Given the description of an element on the screen output the (x, y) to click on. 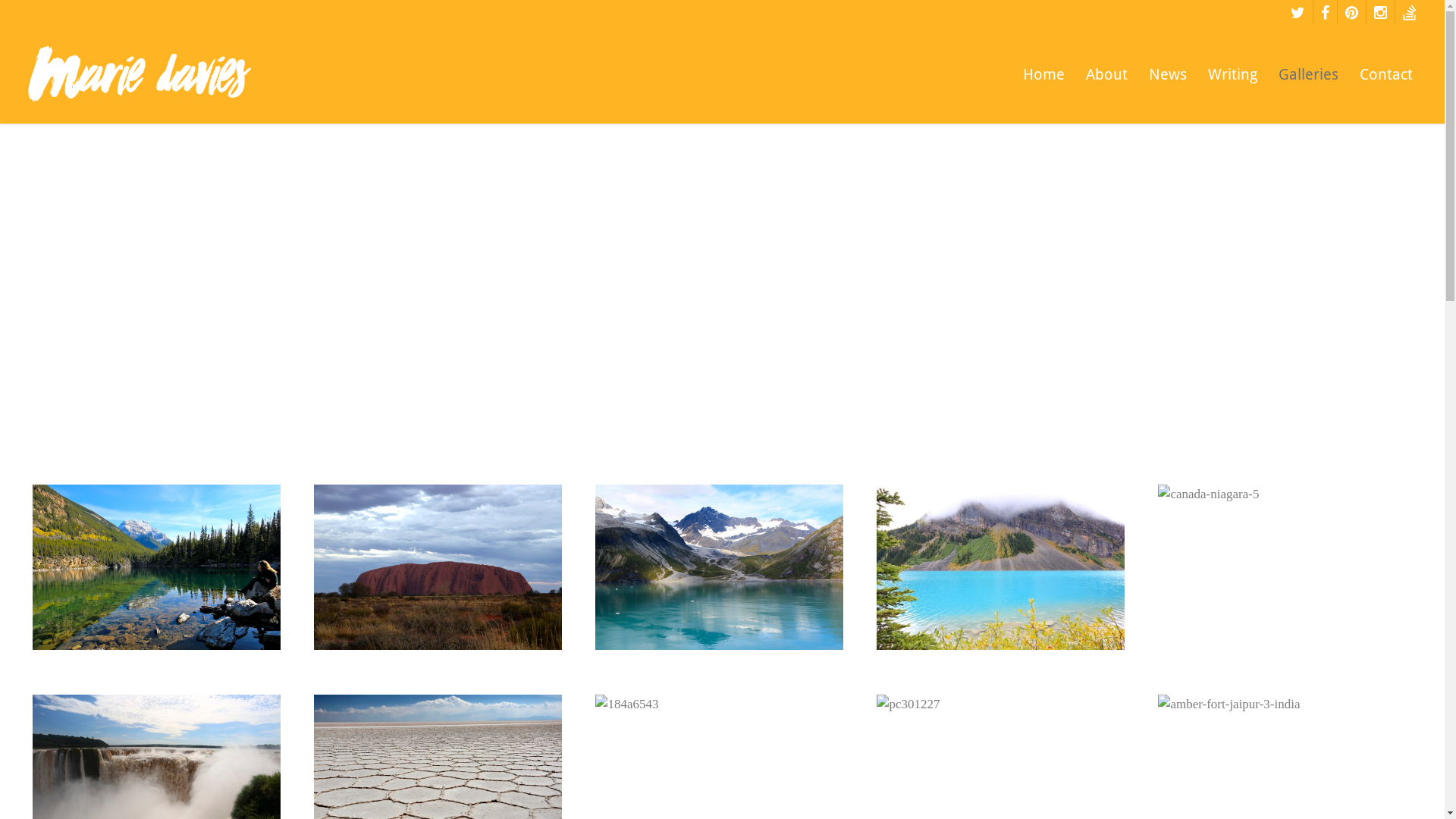
News Element type: text (1167, 81)
alaska-4 Element type: hover (718, 566)
Galleries Element type: text (1308, 81)
canada-niagara-5 Element type: hover (1281, 566)
Writing Element type: text (1232, 81)
Home Element type: text (1043, 81)
resize-canada-lake-como Element type: hover (999, 566)
About Element type: text (1106, 81)
canada-rockies-1 Element type: hover (155, 566)
2016-jan-uluru-012 Element type: hover (437, 566)
Contact Element type: text (1385, 81)
